Given the description of an element on the screen output the (x, y) to click on. 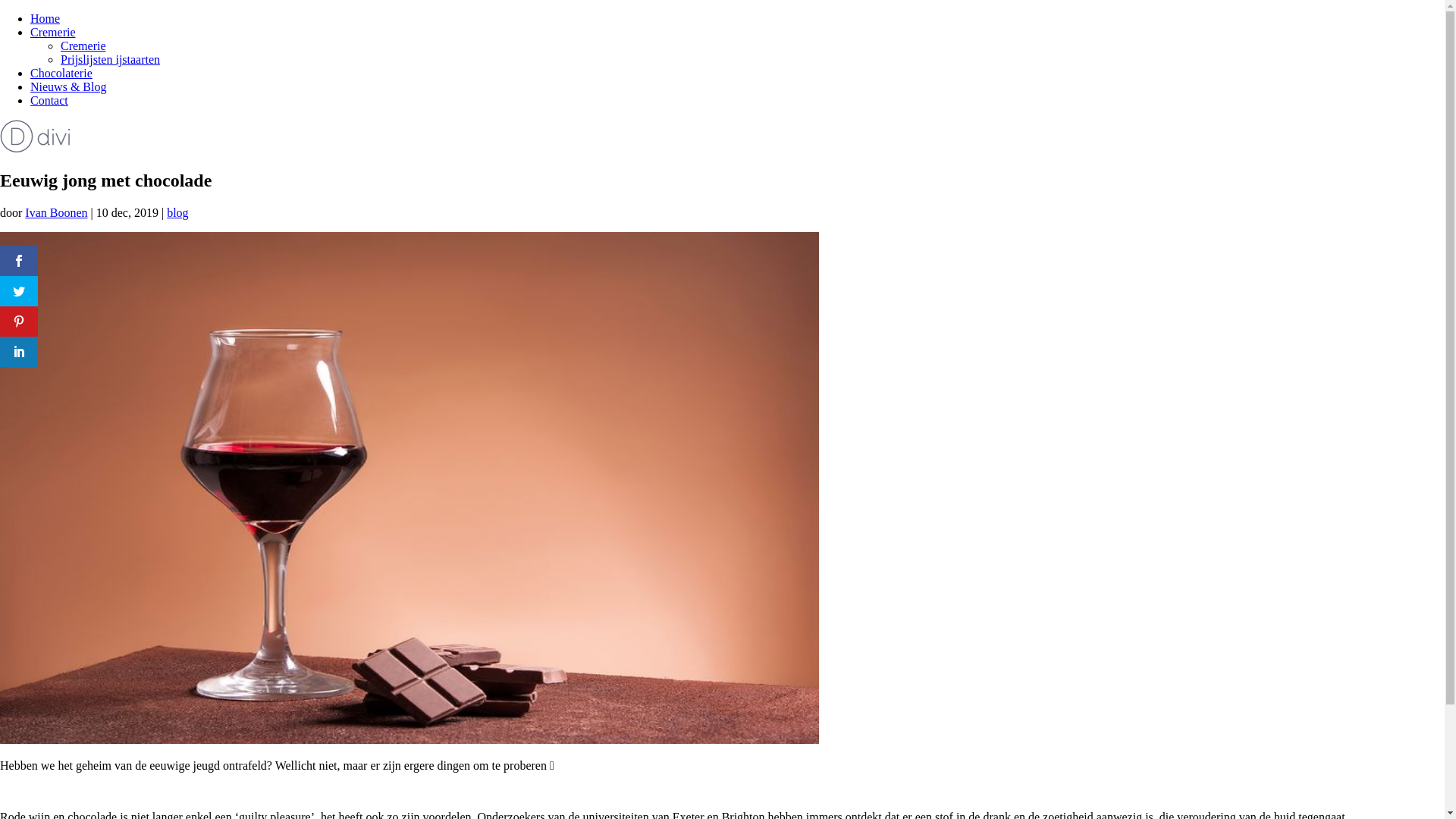
Contact Element type: text (49, 100)
Cremerie Element type: text (83, 45)
Cremerie Element type: text (52, 31)
Nieuws & Blog Element type: text (68, 86)
Ivan Boonen Element type: text (56, 212)
Chocolaterie Element type: text (61, 72)
Home Element type: text (44, 18)
blog Element type: text (177, 212)
Prijslijsten ijstaarten Element type: text (110, 59)
